Given the description of an element on the screen output the (x, y) to click on. 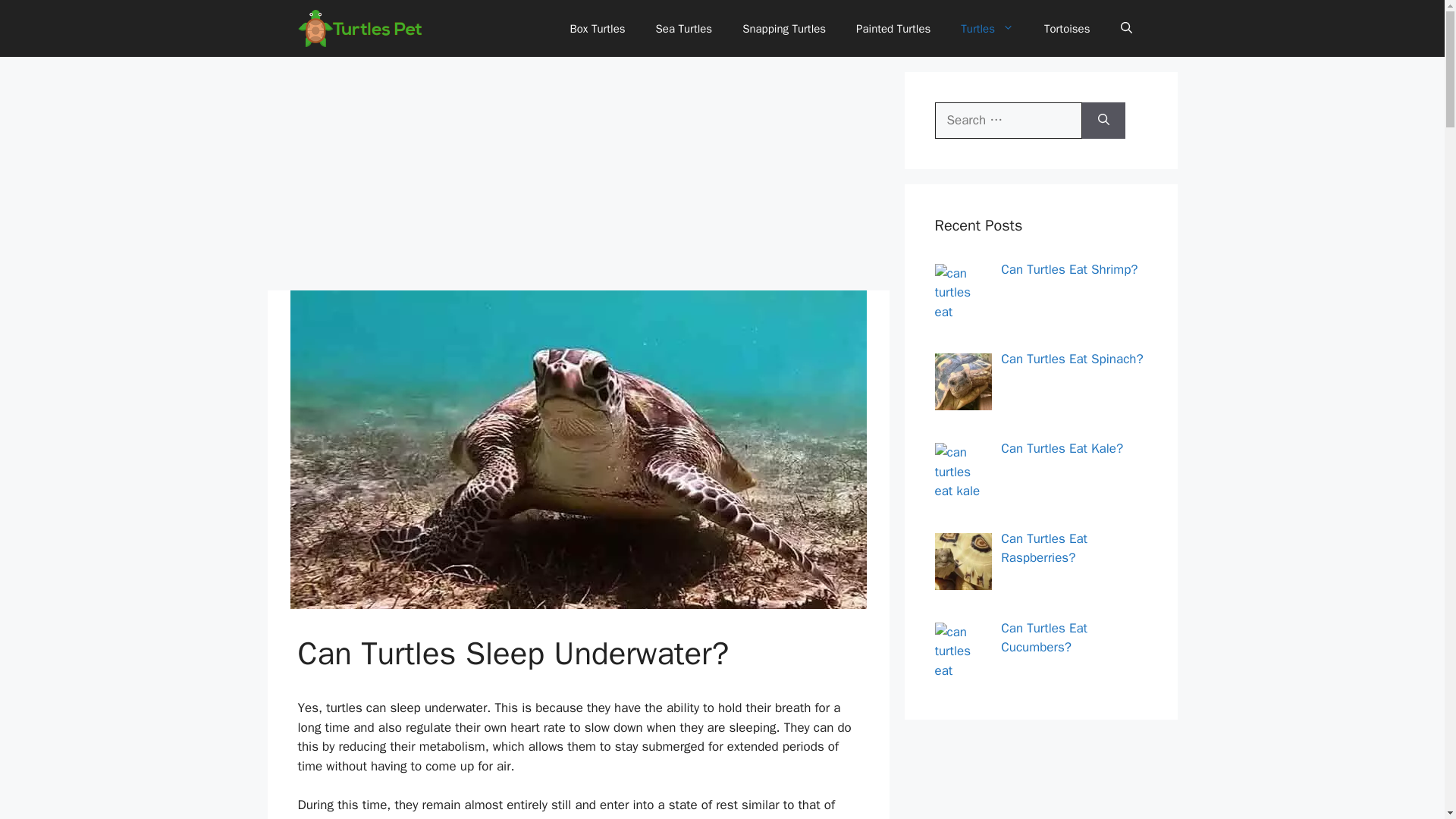
Painted Turtles (892, 28)
Box Turtles (597, 28)
Snapping Turtles (783, 28)
Can Turtles Eat Cucumbers? (1044, 637)
Turtles Pet (359, 28)
Can Turtles Eat Shrimp? (1069, 268)
Tortoises (1067, 28)
Can Turtles Eat Spinach? (1071, 358)
Can Turtles Eat Raspberries? (1044, 548)
Advertisement (577, 178)
